Given the description of an element on the screen output the (x, y) to click on. 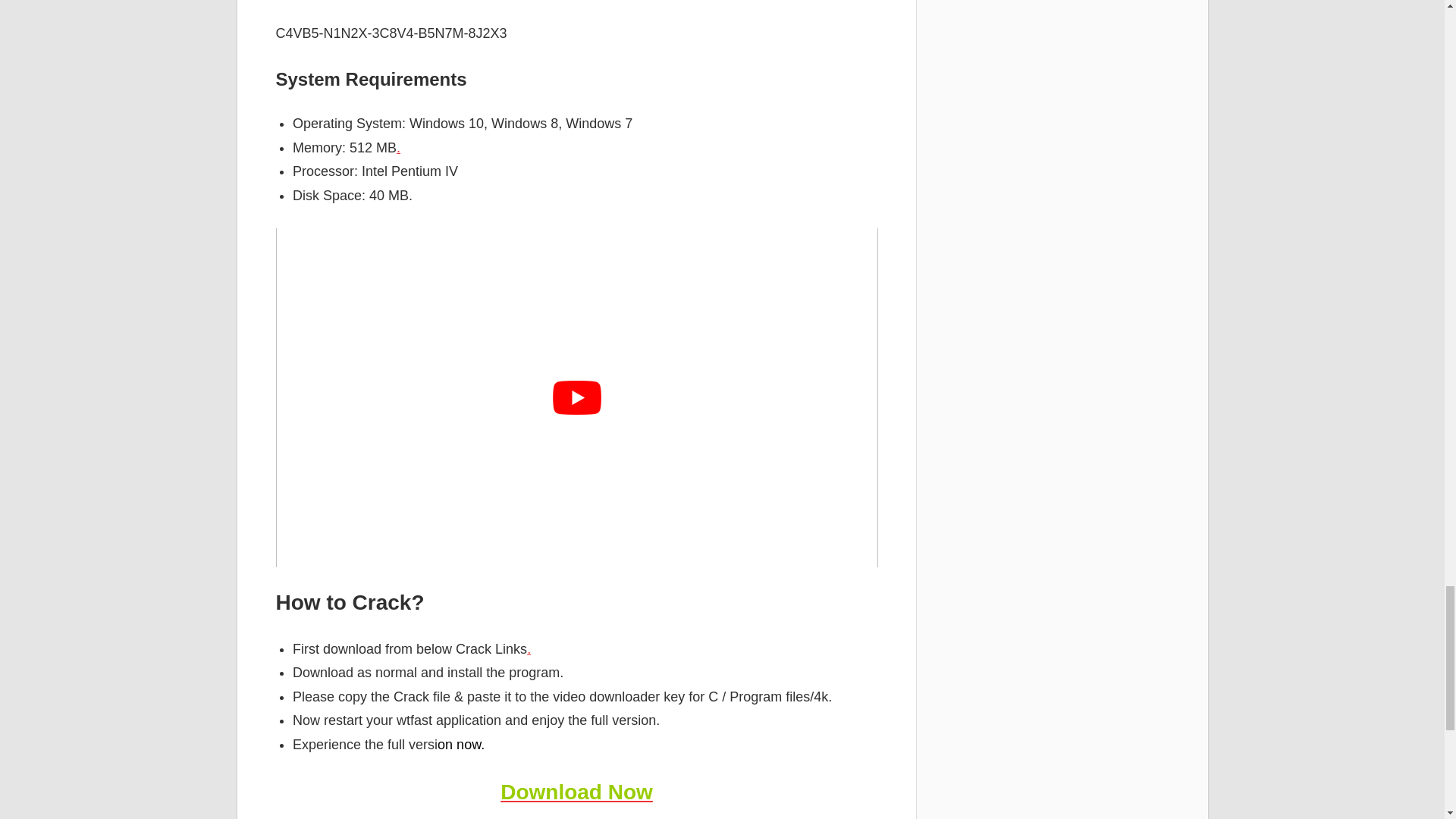
. (398, 147)
. (529, 648)
Download Now (576, 791)
